Given the description of an element on the screen output the (x, y) to click on. 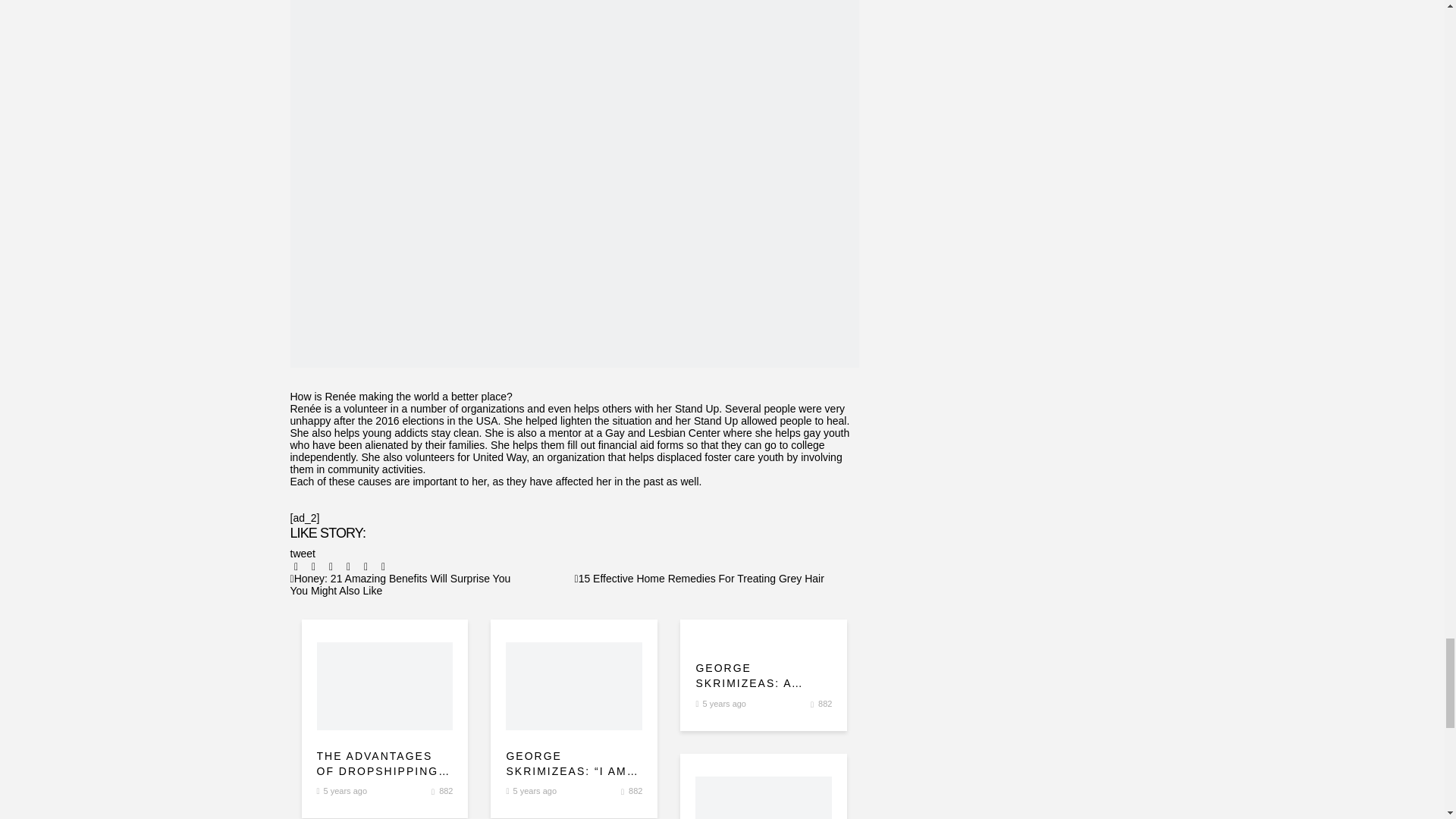
Honey: 21 Amazing Benefits Will Surprise You (400, 578)
882 (635, 790)
15 Effective Home Remedies For Treating Grey Hair (699, 578)
882 (445, 790)
Honey: 21 Amazing Benefits Will Surprise You (400, 578)
The Advantages of Dropshipping: A Modern Business Model (384, 763)
THE ADVANTAGES OF DROPSHIPPING: A MODERN BUSINESS MODEL (384, 763)
tweet (301, 553)
